Given the description of an element on the screen output the (x, y) to click on. 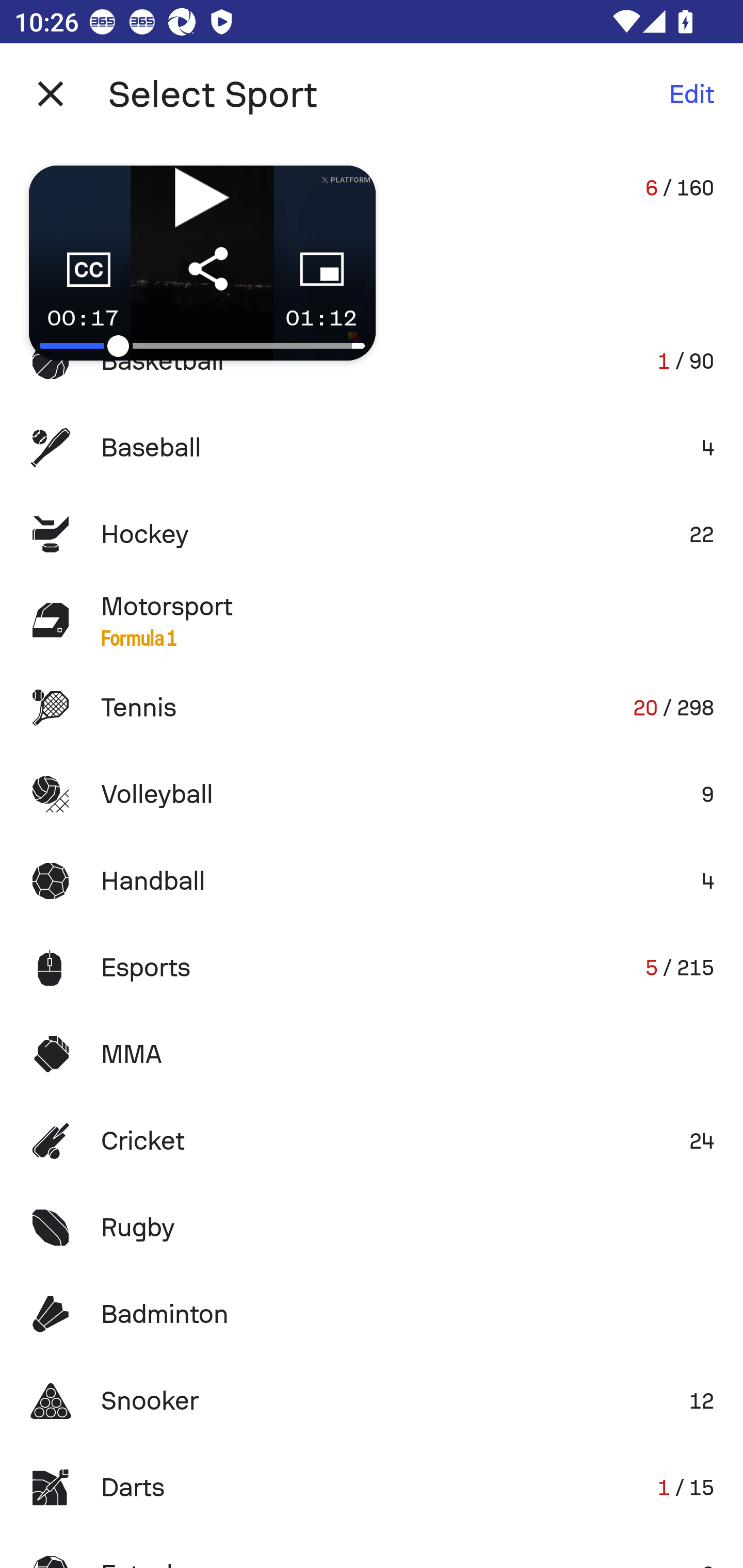
Edit (691, 93)
Baseball 4 (371, 447)
Hockey 22 (371, 533)
Motorsport Formula 1 (371, 620)
Tennis 20 / 298 (371, 707)
Volleyball 9 (371, 794)
Handball 4 (371, 880)
Esports 5 / 215 (371, 967)
MMA (371, 1054)
Cricket 24 (371, 1140)
Rugby (371, 1227)
Badminton (371, 1314)
Snooker 12 (371, 1400)
Darts 1 / 15 (371, 1487)
